Given the description of an element on the screen output the (x, y) to click on. 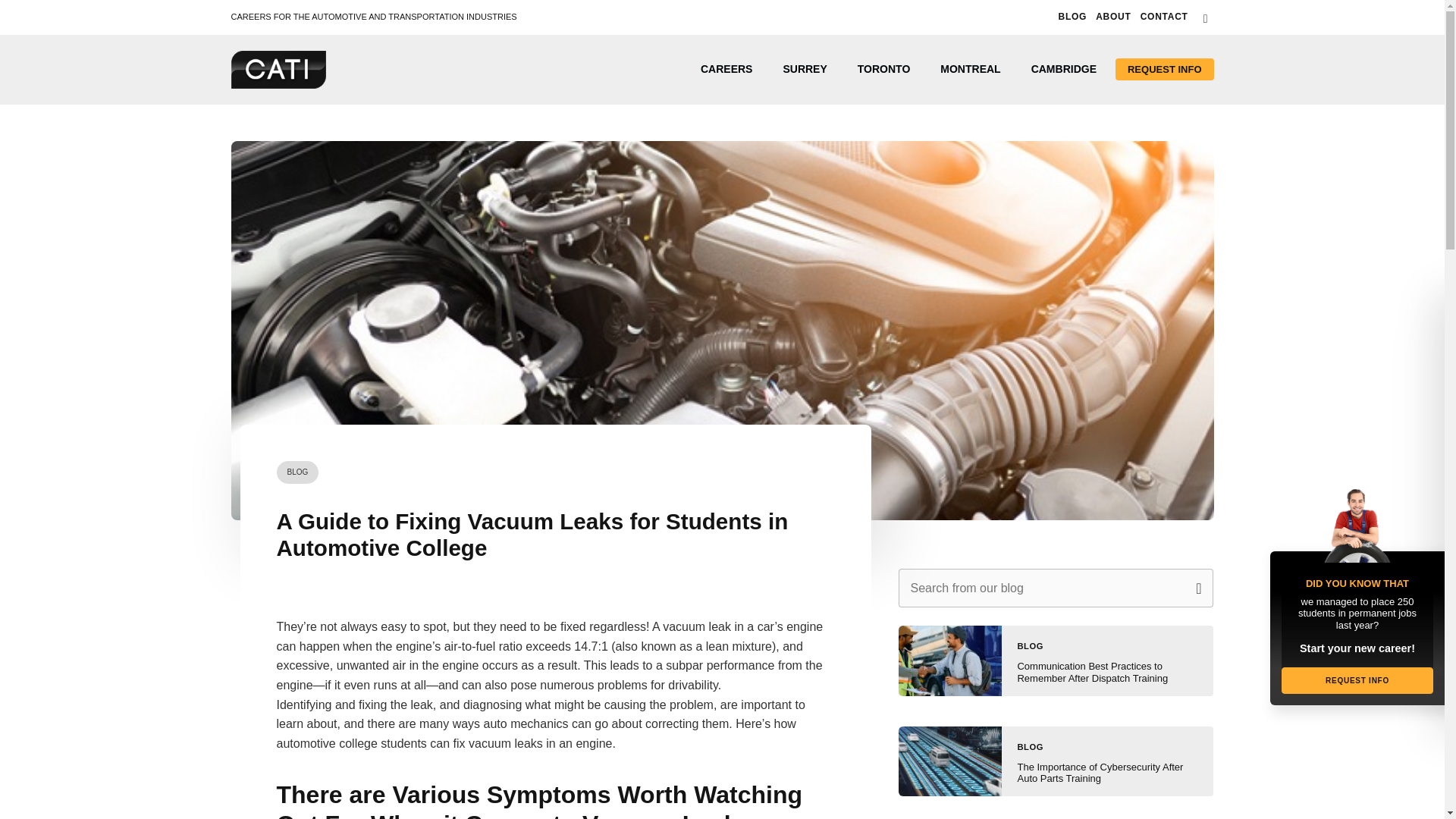
BLOG (1029, 746)
SURREY (804, 69)
CONTACT (1164, 17)
Blog (1072, 17)
Cambridge (1064, 69)
TORONTO (884, 69)
CAMBRIDGE (1064, 69)
Montreal (969, 69)
BLOG (1029, 645)
BLOG (1072, 17)
Toronto (884, 69)
Careers (726, 69)
About (1113, 17)
REQUEST INFO (1164, 69)
Contact (1164, 17)
